Given the description of an element on the screen output the (x, y) to click on. 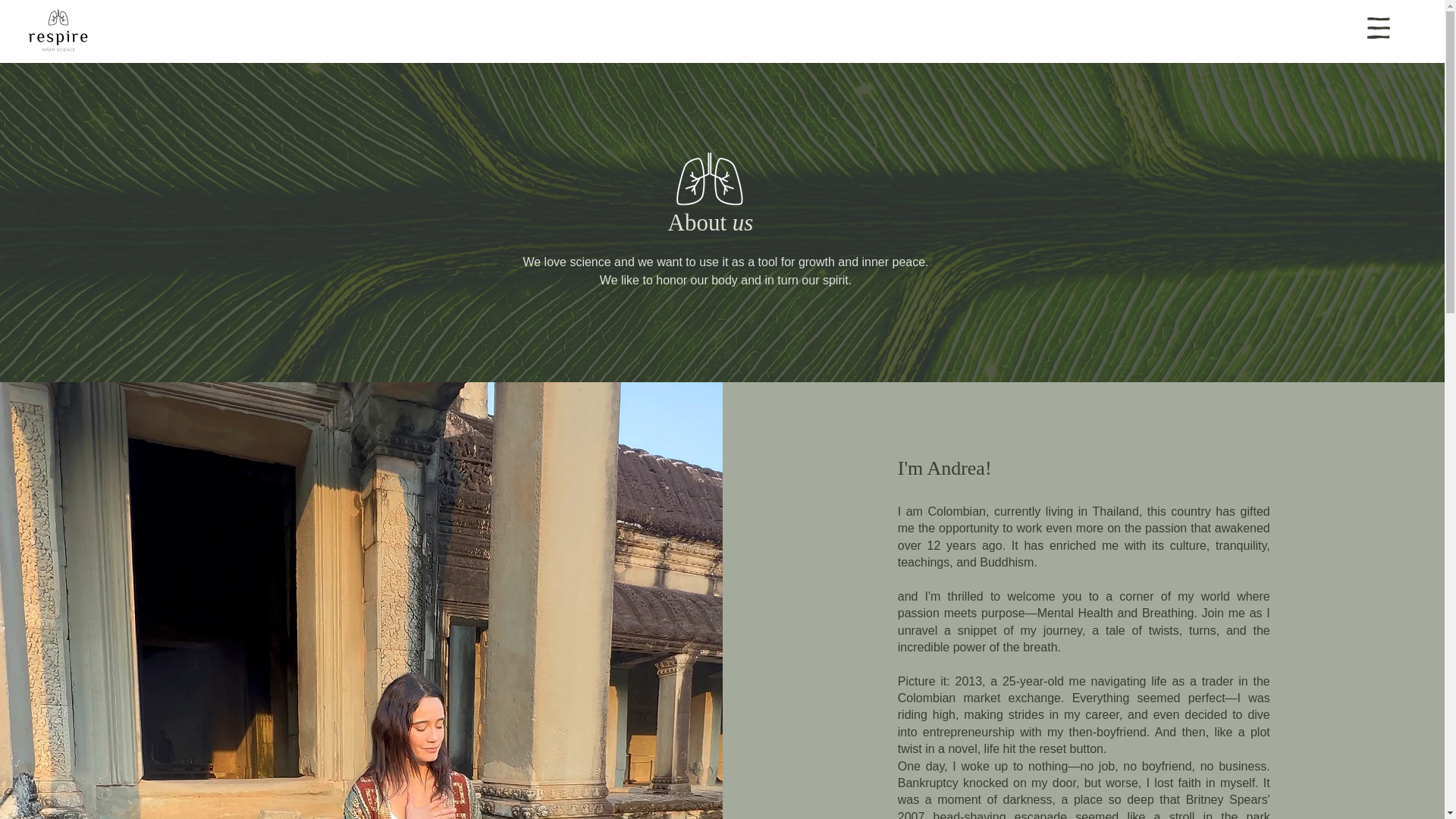
2.png (710, 181)
